Given the description of an element on the screen output the (x, y) to click on. 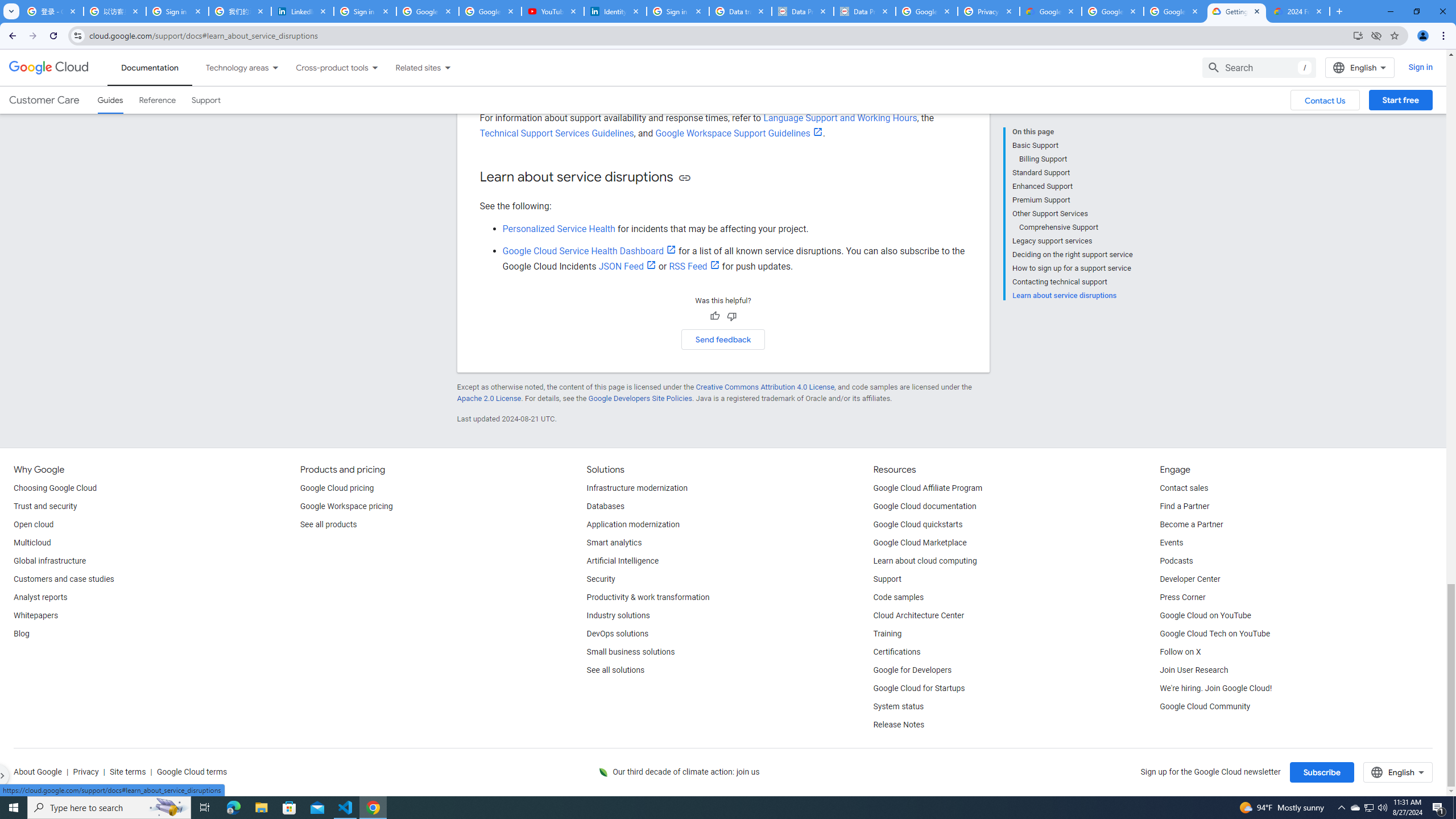
Enhanced Support (1071, 186)
Google Cloud pricing (336, 488)
Support (887, 579)
Release Notes (898, 724)
